Given the description of an element on the screen output the (x, y) to click on. 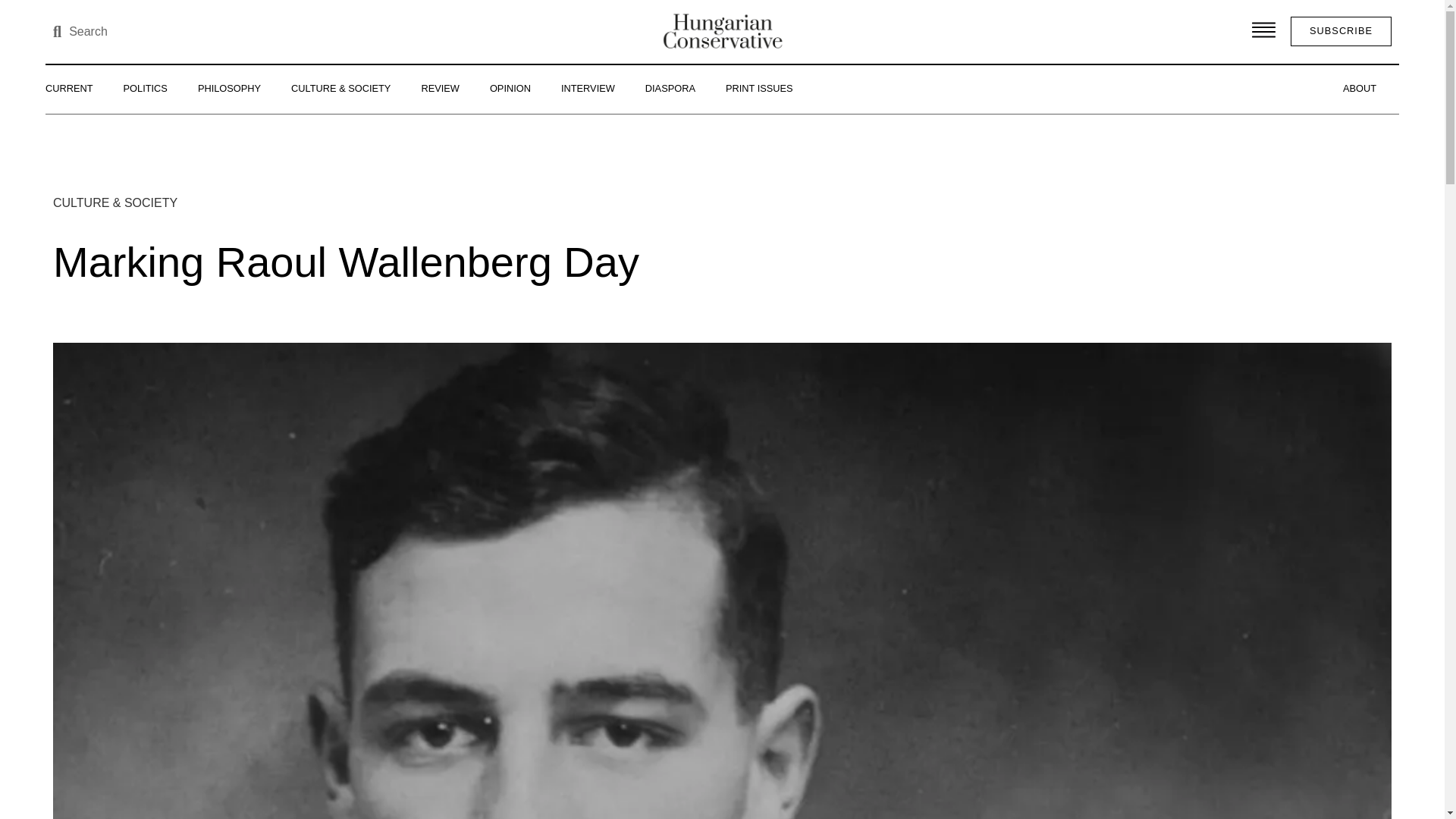
INTERVIEW (588, 88)
REVIEW (440, 88)
SUBSCRIBE (1340, 30)
PHILOSOPHY (229, 88)
DIASPORA (670, 88)
POLITICS (145, 88)
CURRENT (68, 88)
ABOUT (1359, 88)
OPINION (510, 88)
PRINT ISSUES (759, 88)
